Given the description of an element on the screen output the (x, y) to click on. 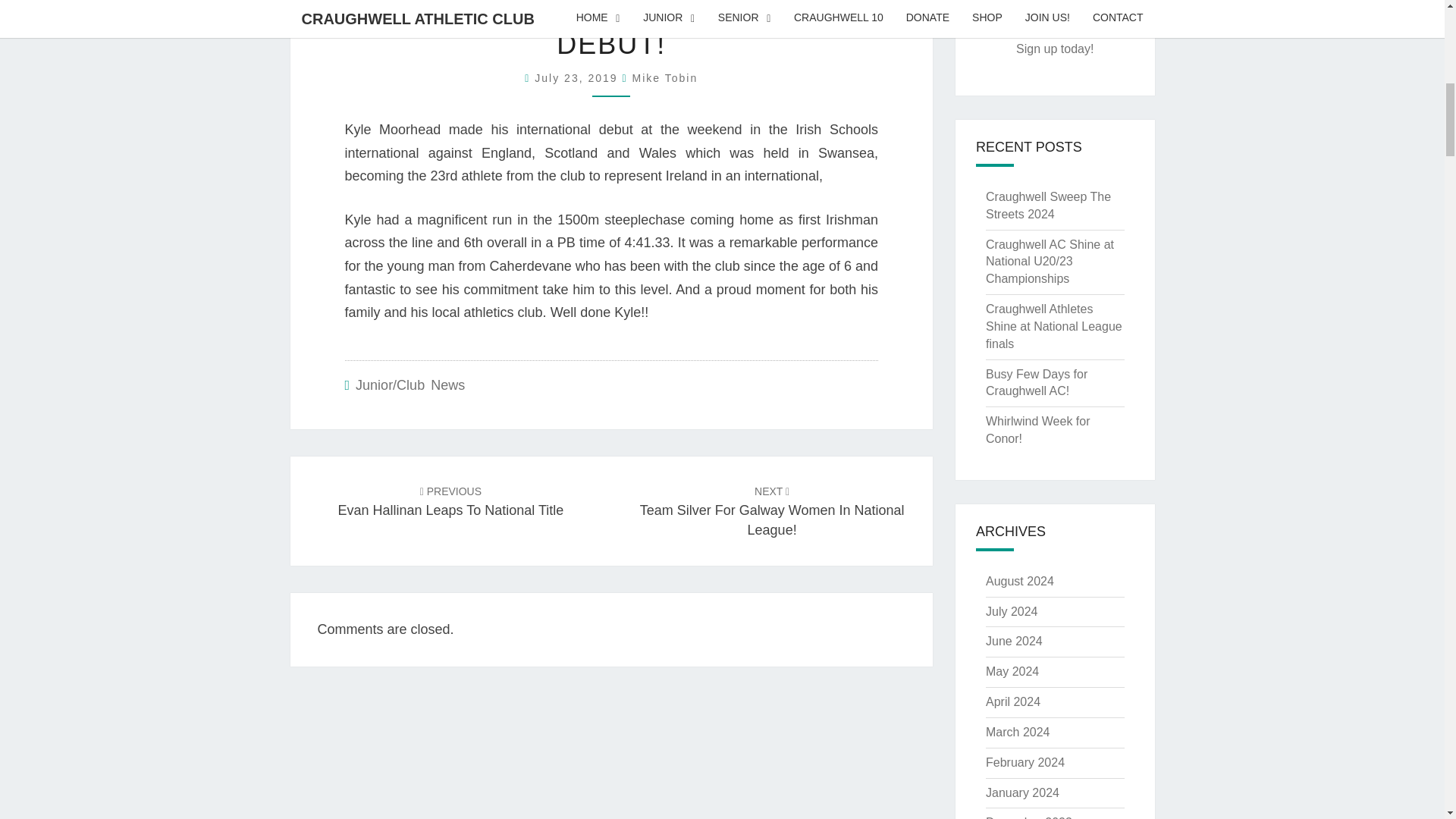
View all posts by Mike Tobin (664, 78)
July 23, 2019 (577, 78)
7:32 am (577, 78)
Mike Tobin (664, 78)
